Given the description of an element on the screen output the (x, y) to click on. 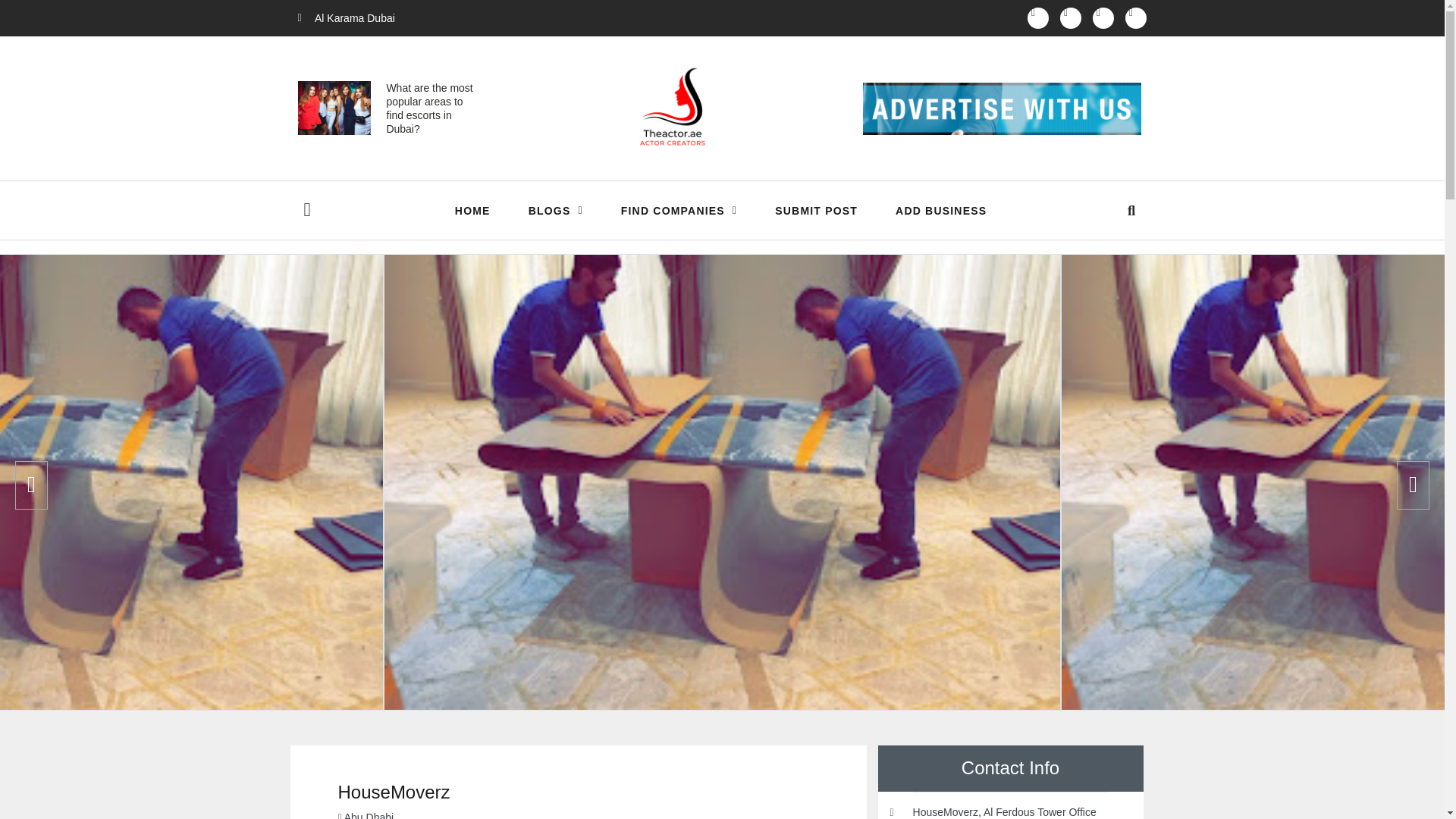
FIND COMPANIES (678, 210)
HOME (472, 210)
What are the most popular areas to find escorts in Dubai? (428, 108)
SUBMIT POST (815, 210)
ADD BUSINESS (941, 210)
BLOGS (555, 210)
